Given the description of an element on the screen output the (x, y) to click on. 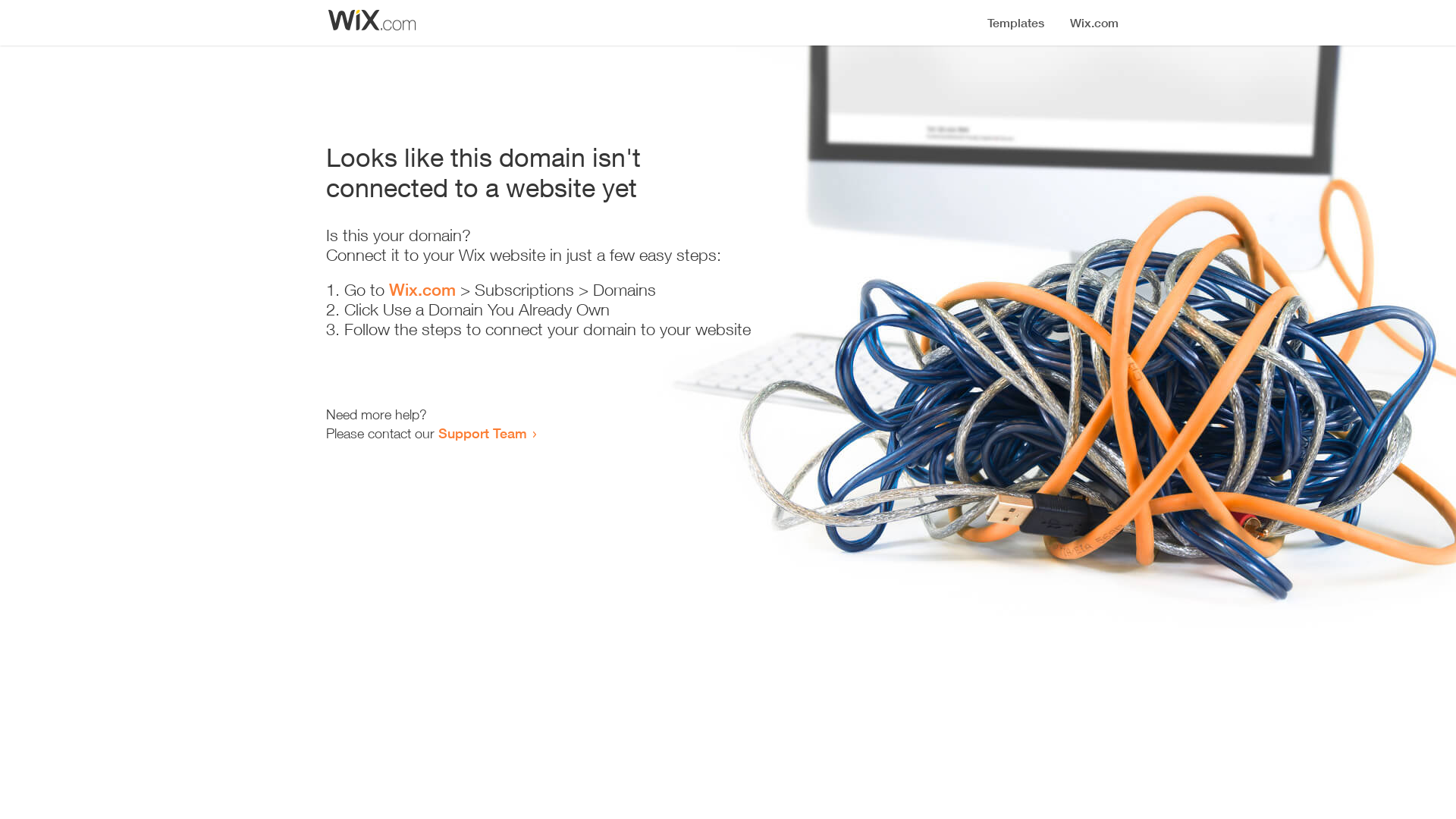
Wix.com Element type: text (422, 289)
Support Team Element type: text (482, 432)
